Given the description of an element on the screen output the (x, y) to click on. 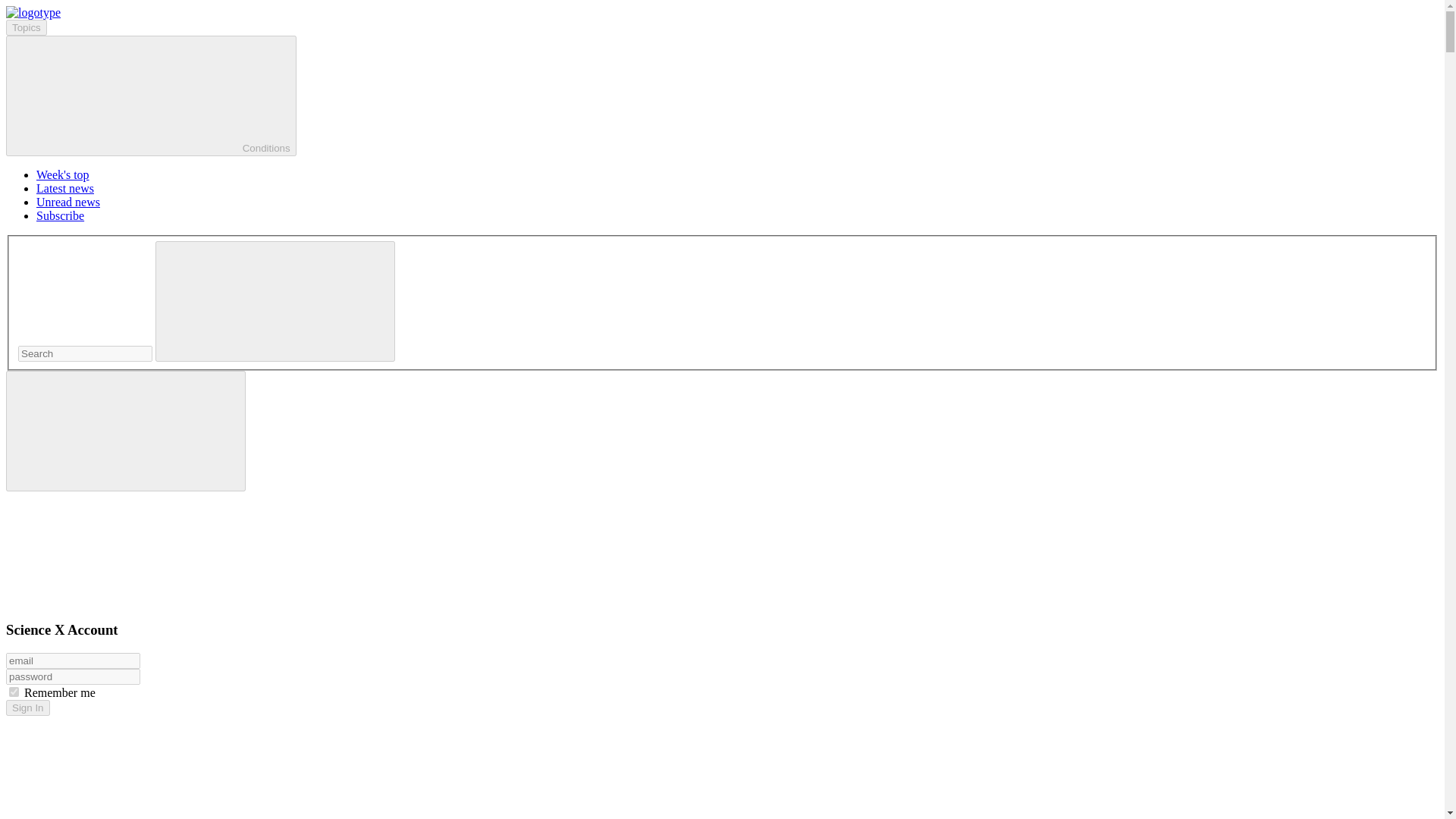
Topics (25, 27)
on (13, 691)
Subscribe (60, 215)
Week's top (62, 174)
Conditions (151, 96)
Latest news (65, 187)
Sign In (27, 707)
Unread news (68, 201)
